Given the description of an element on the screen output the (x, y) to click on. 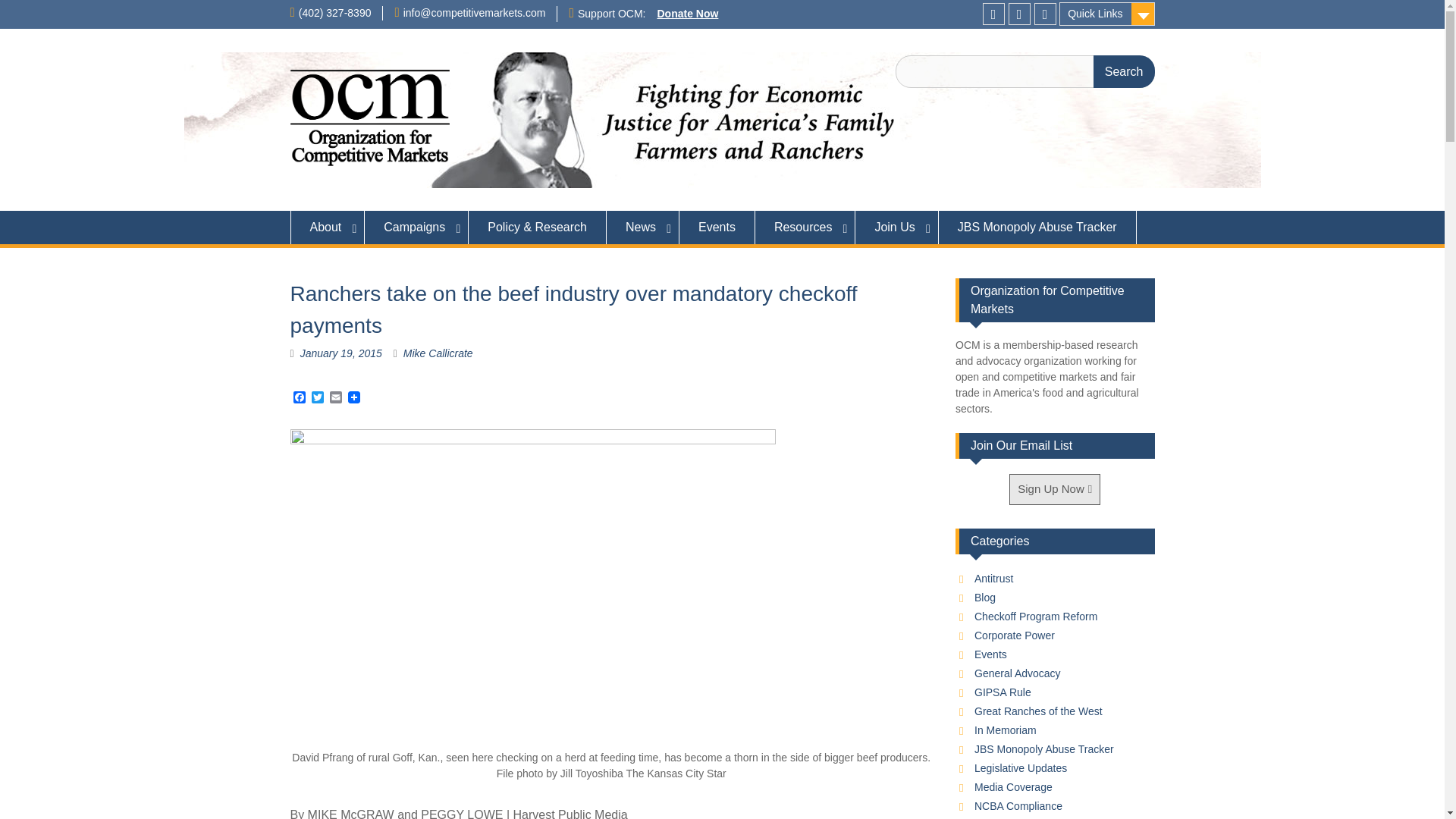
Campaigns (416, 227)
Search for: (1024, 71)
News (643, 227)
Join Us (896, 227)
Quick Links (1106, 13)
Twitter (316, 398)
Events (717, 227)
Search (1123, 71)
About (327, 227)
Donate Now (686, 13)
Facebook (298, 398)
YouTube (1045, 14)
Twitter (1019, 14)
Search (1123, 71)
Resources (805, 227)
